Given the description of an element on the screen output the (x, y) to click on. 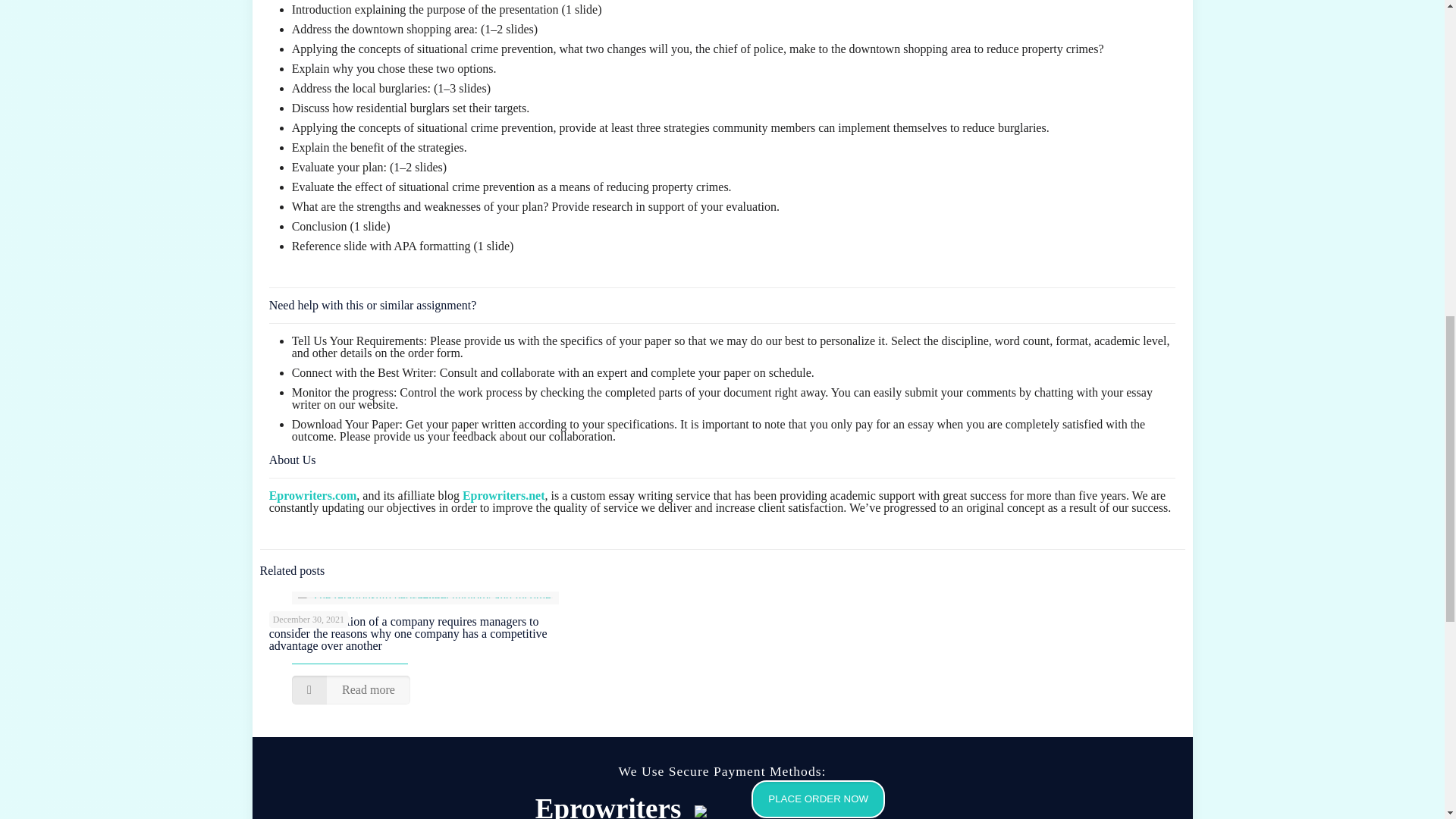
PLACE ORDER NOW (818, 799)
Eprowriters.com (312, 495)
Read more (351, 689)
PLACE ORDER NOW (809, 803)
Eprowriters.net (503, 495)
